Given the description of an element on the screen output the (x, y) to click on. 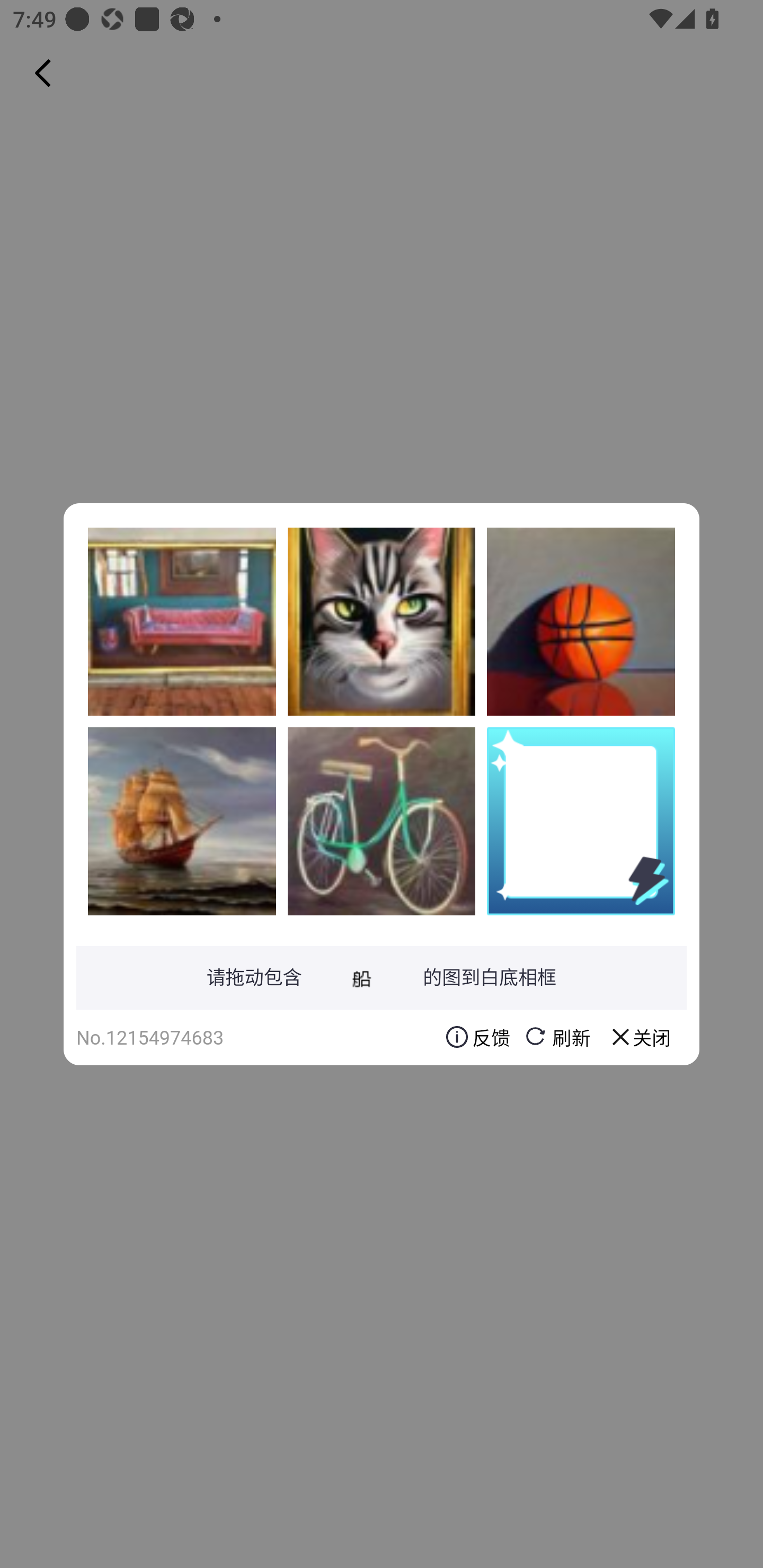
wfgp6erCfQxZ4gAOGSQFi (381, 621)
YkGsJOoC (181, 820)
gy6 (381, 820)
